Given the description of an element on the screen output the (x, y) to click on. 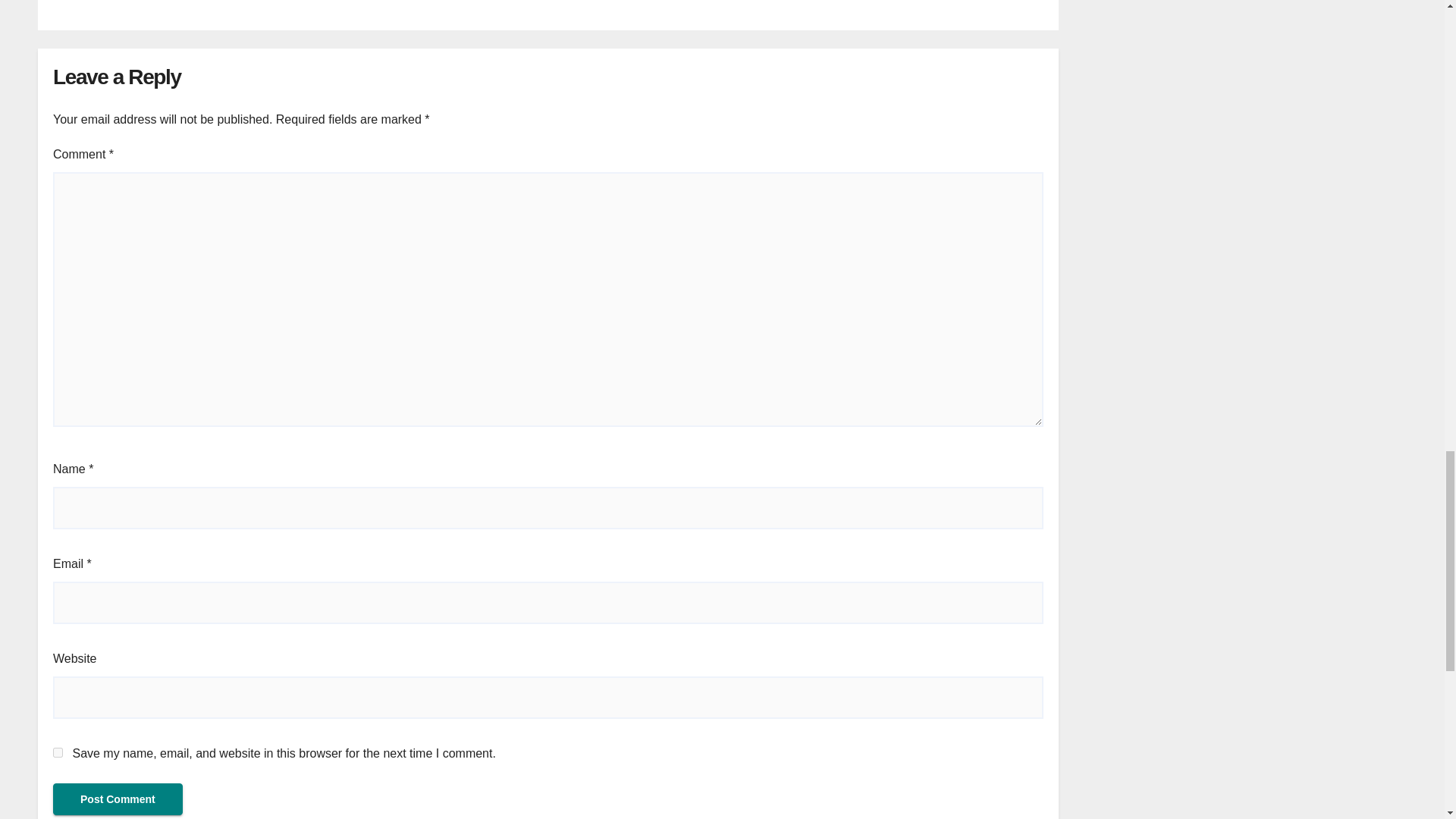
yes (57, 752)
Post Comment (117, 798)
